Given the description of an element on the screen output the (x, y) to click on. 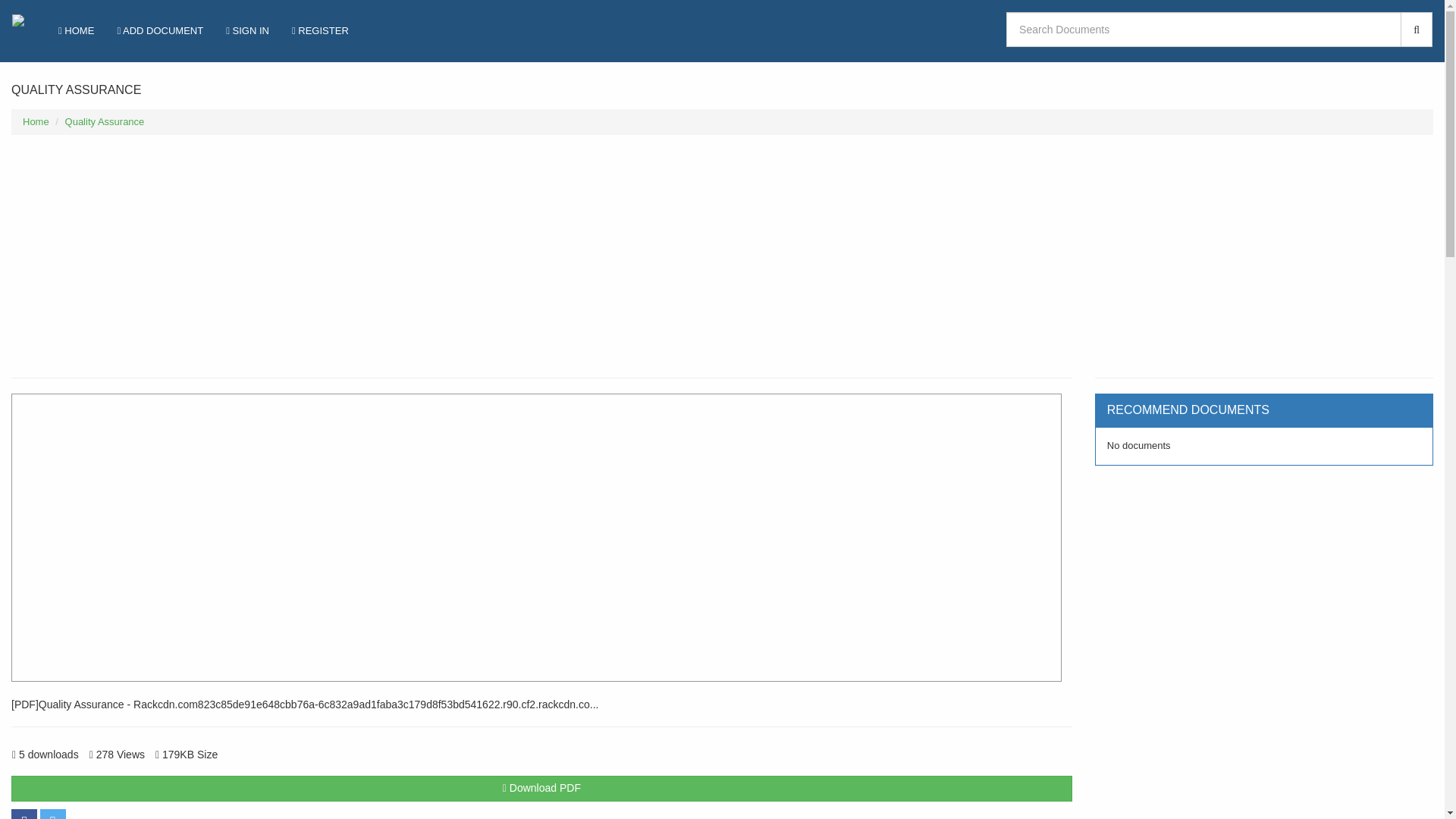
Home (36, 121)
Quality Assurance (104, 121)
REGISTER (320, 30)
Download PDF (541, 788)
ADD DOCUMENT (159, 30)
HOME (75, 30)
SIGN IN (247, 30)
